Given the description of an element on the screen output the (x, y) to click on. 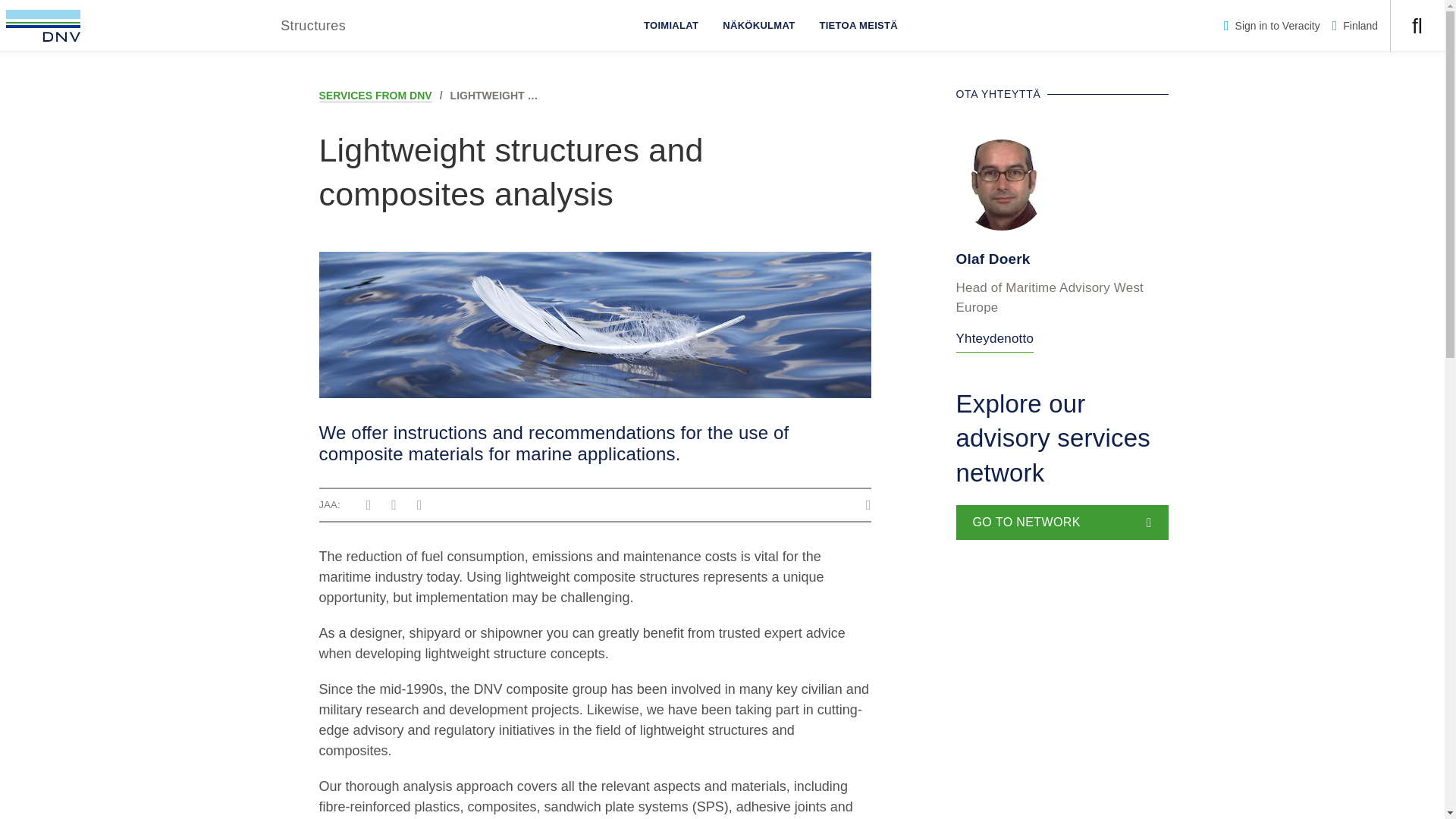
TOIMIALAT (670, 25)
